Given the description of an element on the screen output the (x, y) to click on. 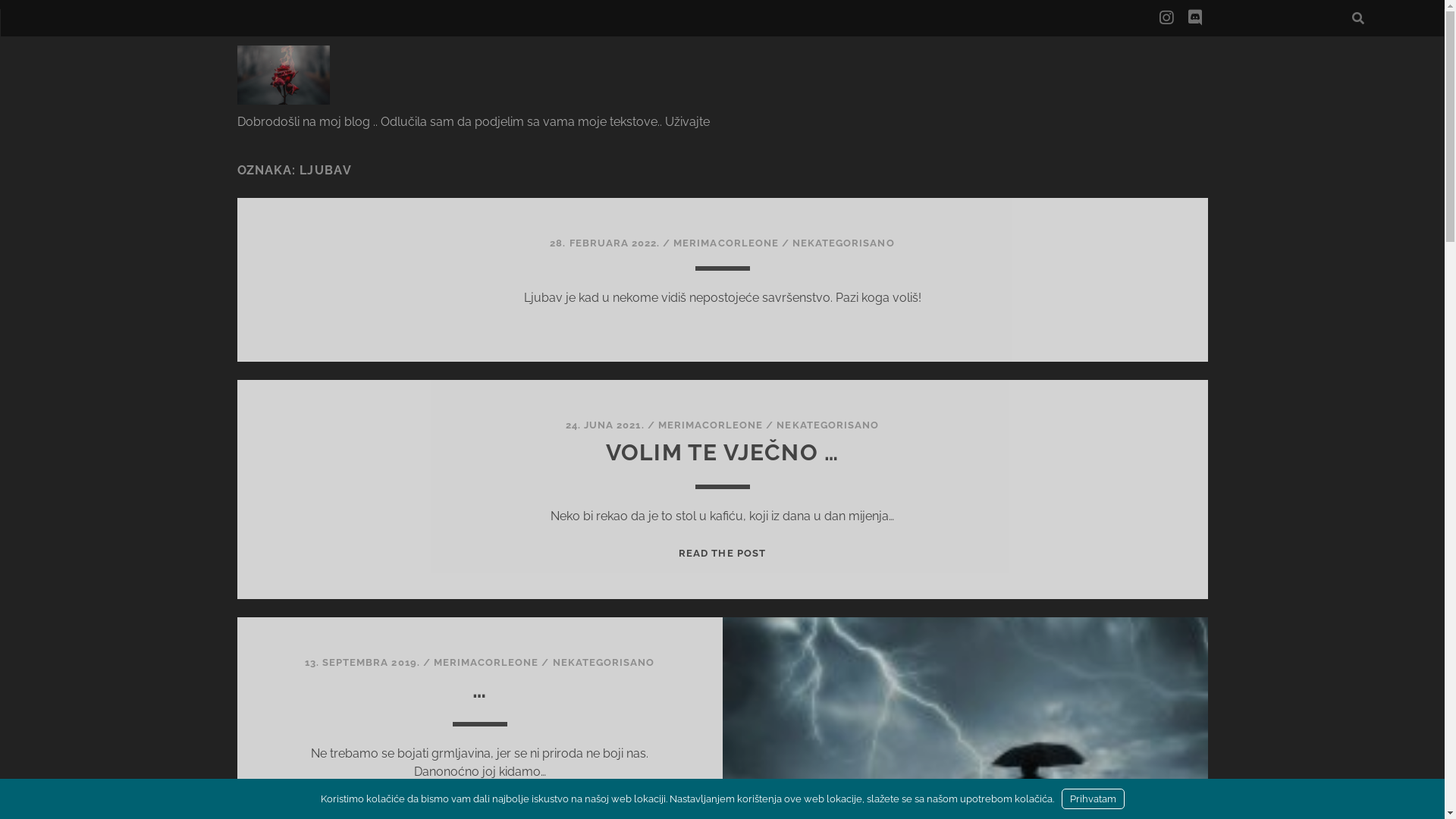
Prihvatam Element type: text (1092, 798)
NEKATEGORISANO Element type: text (603, 662)
MERIMACORLEONE Element type: text (486, 662)
instagram Element type: text (1166, 17)
MERIMACORLEONE Element type: text (725, 242)
instagram Element type: hover (1166, 17)
MERIMACORLEONE Element type: text (710, 424)
discord Element type: text (1194, 17)
discord Element type: hover (1194, 17)
NEKATEGORISANO Element type: text (843, 242)
NEKATEGORISANO Element type: text (827, 424)
